Given the description of an element on the screen output the (x, y) to click on. 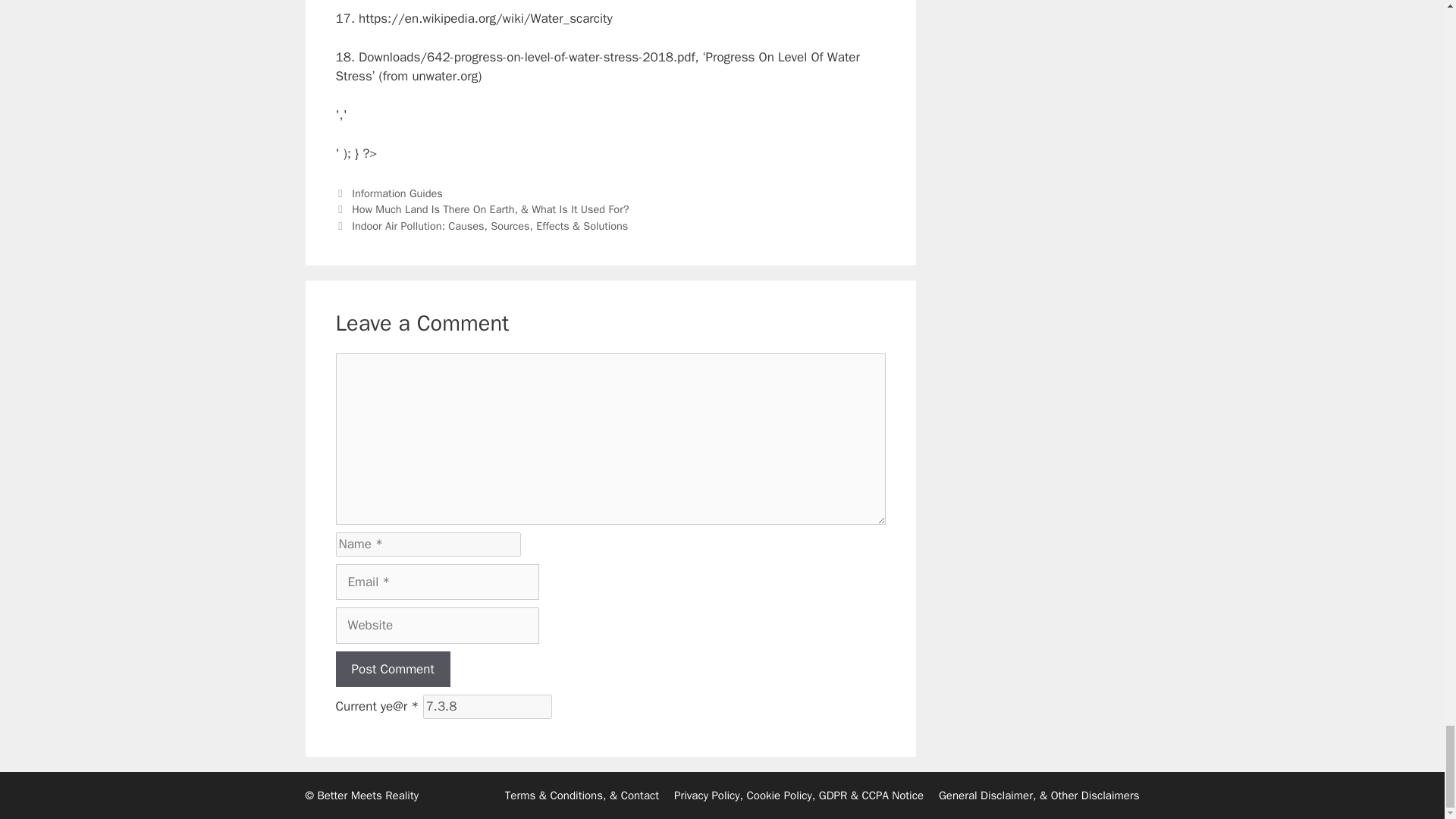
7.3.8 (487, 706)
Information Guides (397, 192)
Post Comment (391, 669)
Post Comment (391, 669)
